Given the description of an element on the screen output the (x, y) to click on. 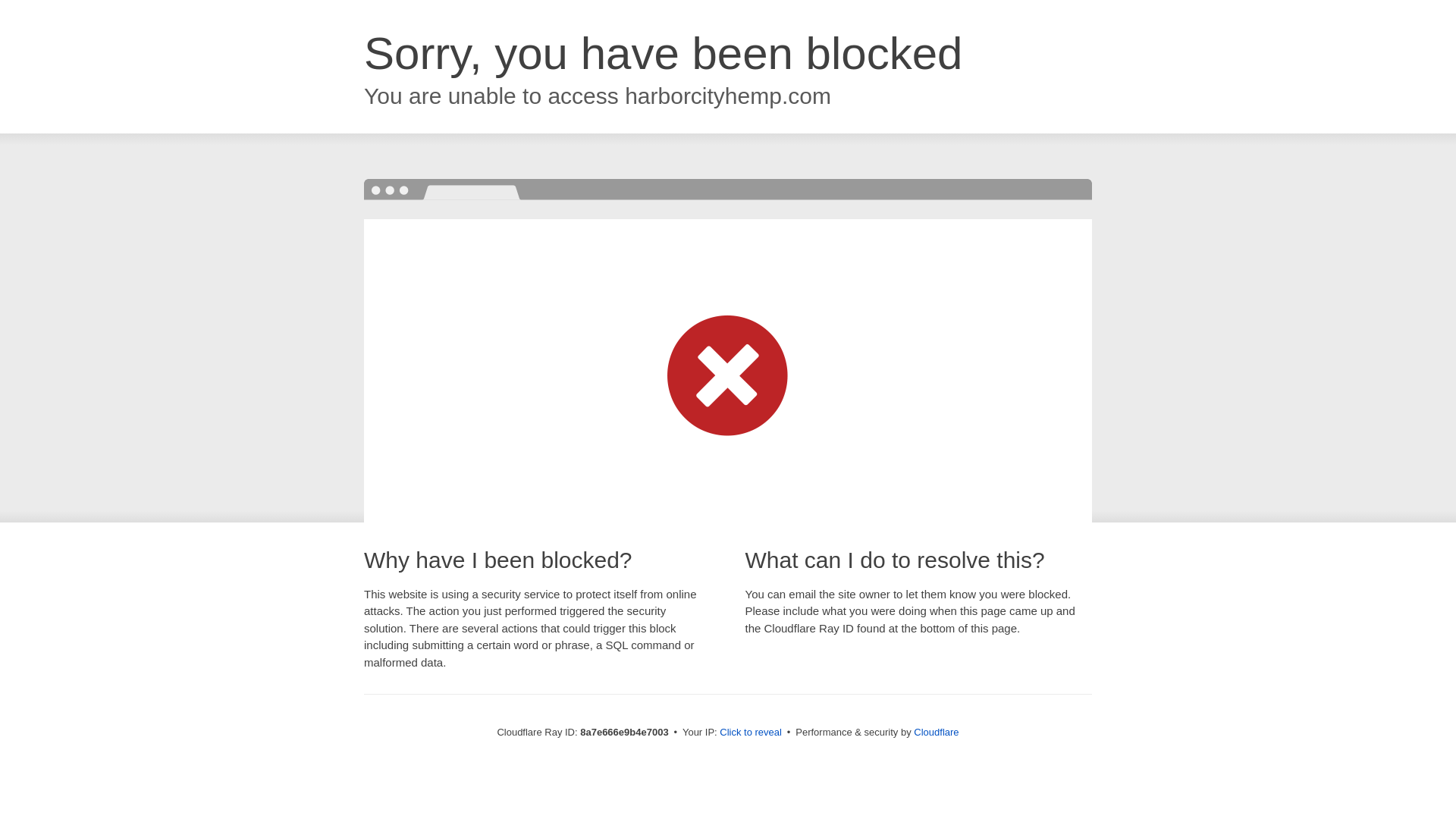
Cloudflare (936, 731)
Click to reveal (750, 732)
